Given the description of an element on the screen output the (x, y) to click on. 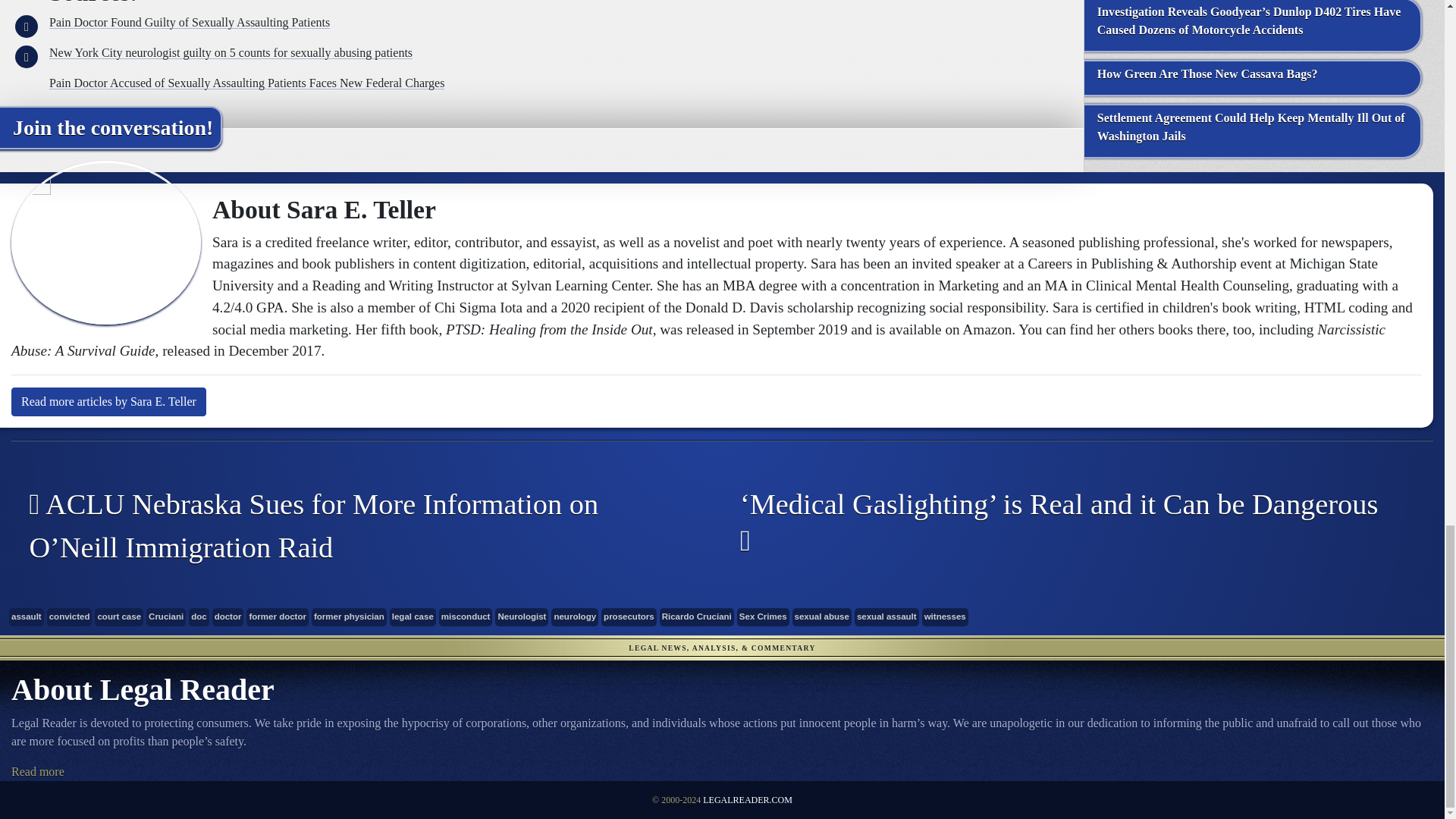
assault (25, 616)
court case (118, 616)
convicted (69, 616)
Read more articles by Sara E. Teller (108, 401)
Read more articles by Sara E. Teller (108, 401)
doc (198, 616)
Cruciani (166, 616)
Pain Doctor Found Guilty of Sexually Assaulting Patients (189, 21)
